Given the description of an element on the screen output the (x, y) to click on. 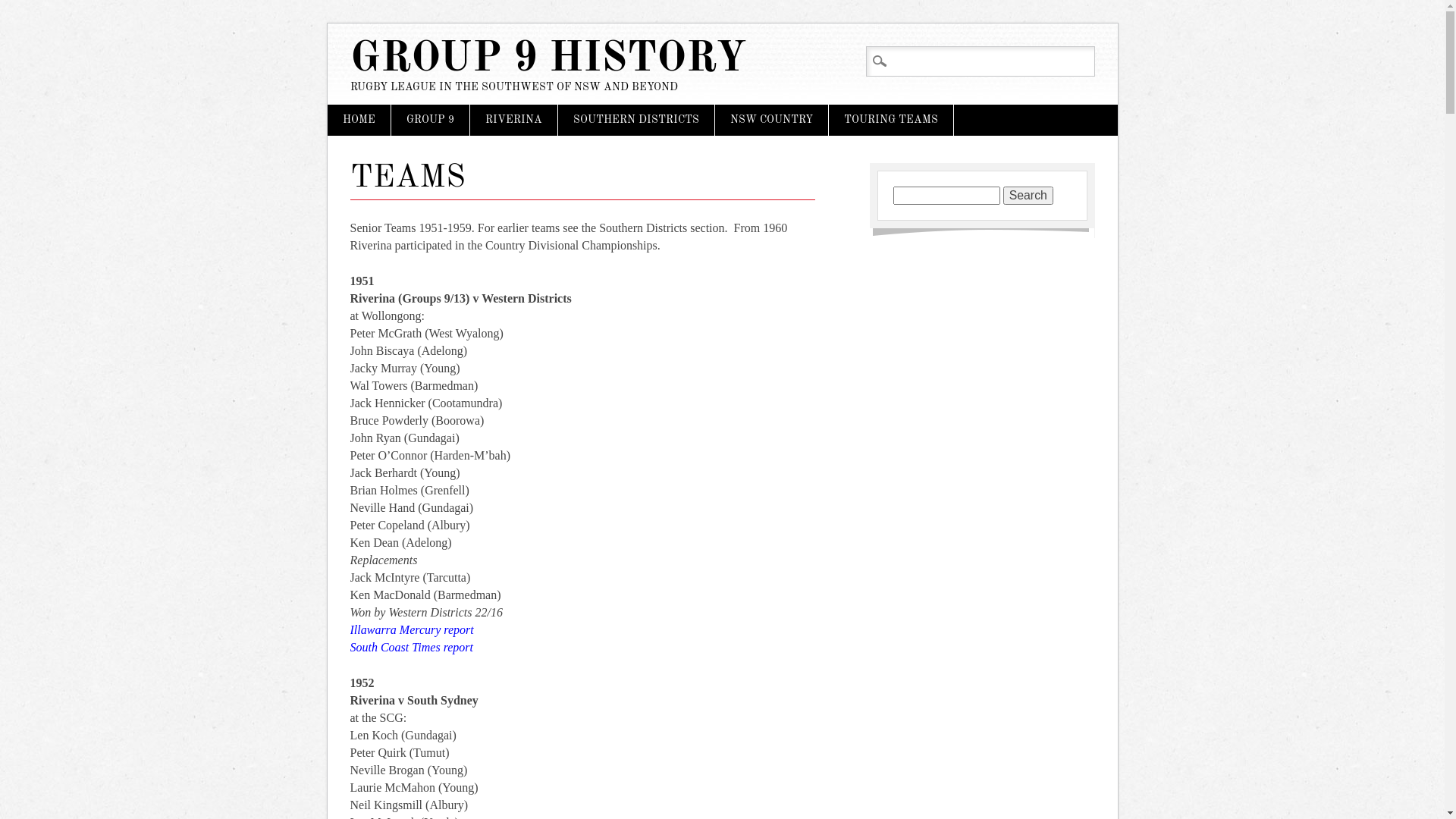
TOURING TEAMS Element type: text (890, 119)
SOUTHERN DISTRICTS Element type: text (636, 119)
Search Element type: text (1028, 195)
Search Element type: text (25, 9)
GROUP 9 HISTORY Element type: text (548, 59)
GROUP 9 Element type: text (430, 119)
Skip to content Element type: text (364, 112)
Illawarra Mercury report Element type: text (411, 629)
RIVERINA Element type: text (513, 119)
HOME Element type: text (358, 119)
NSW COUNTRY Element type: text (770, 119)
South Coast Times report Element type: text (411, 646)
